Given the description of an element on the screen output the (x, y) to click on. 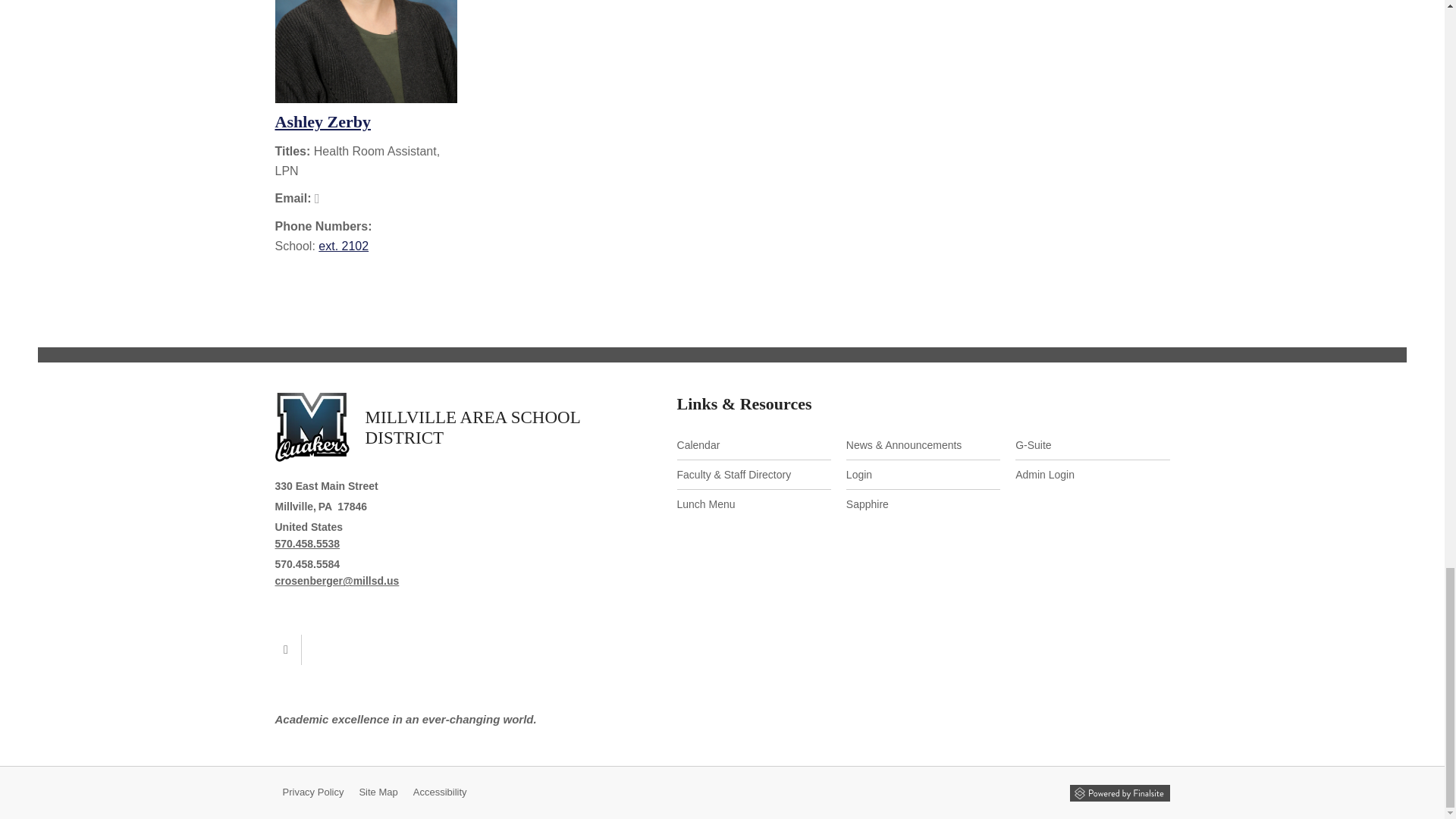
Email (317, 197)
Powered by Finalsite opens in a new window (1118, 792)
Email (336, 580)
